Given the description of an element on the screen output the (x, y) to click on. 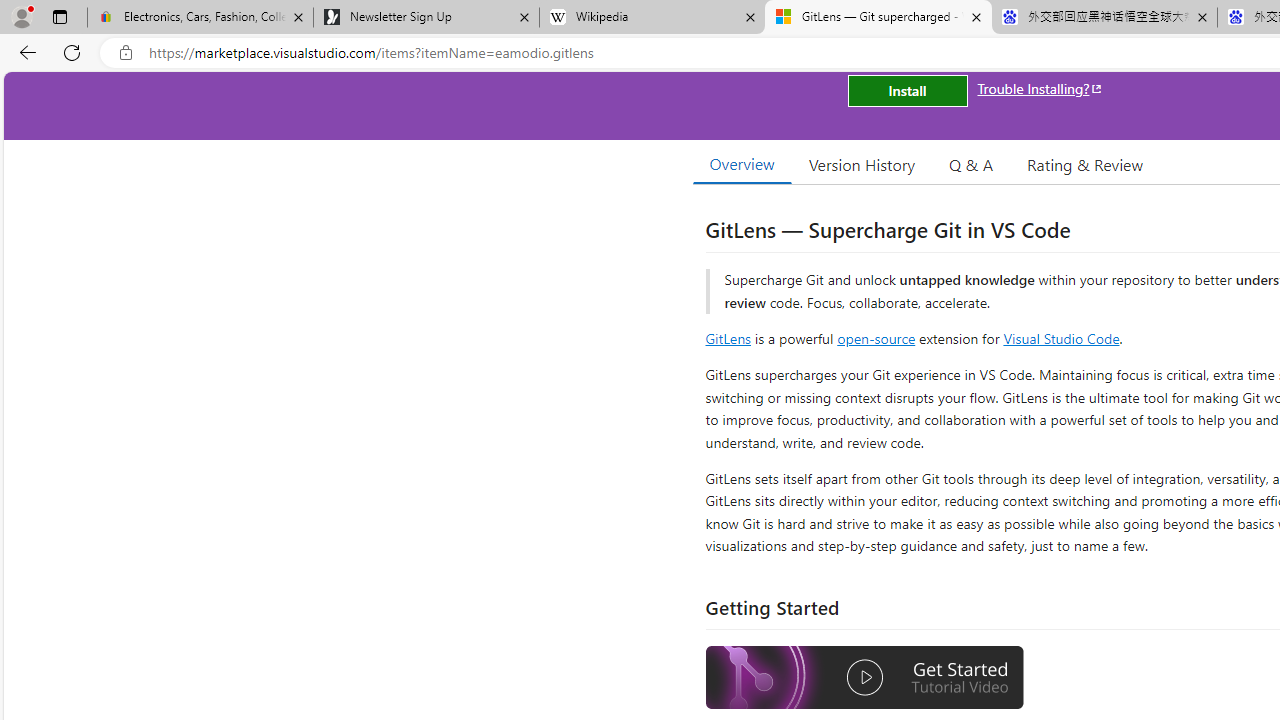
open-source (876, 337)
GitLens (728, 337)
Visual Studio Code (1061, 337)
